Given the description of an element on the screen output the (x, y) to click on. 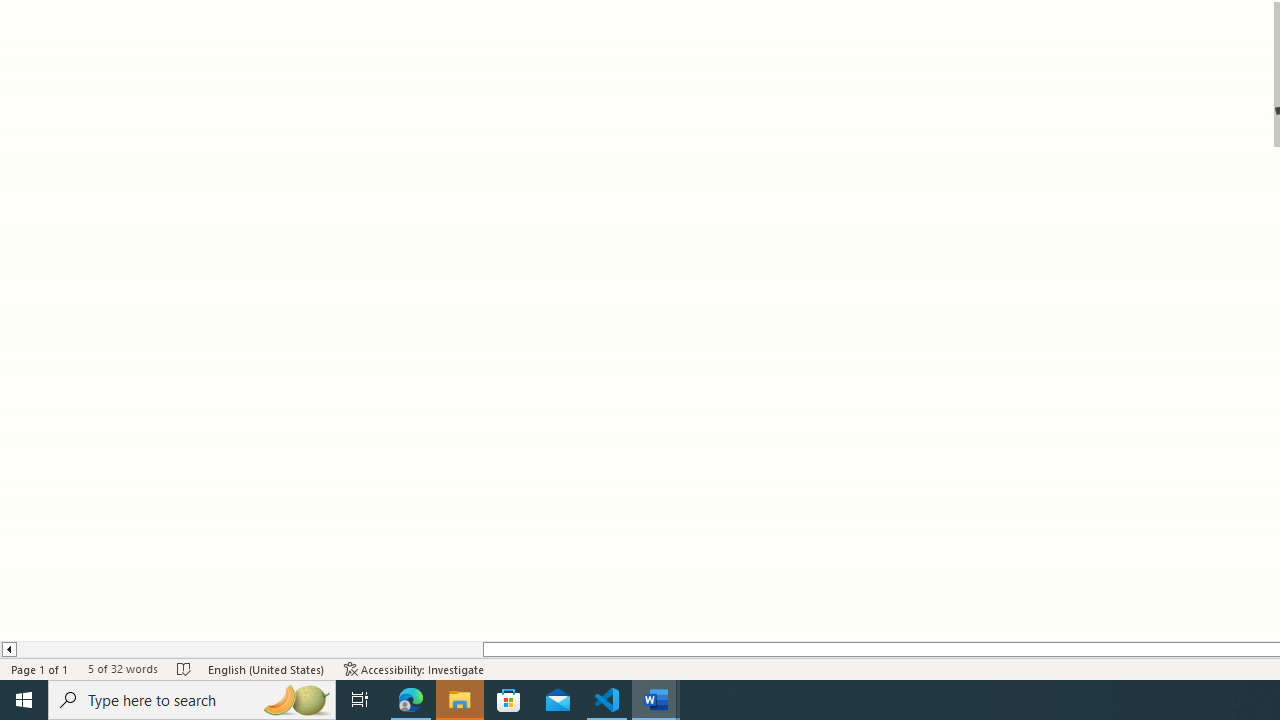
Spelling and Grammar Check No Errors (184, 668)
Accessibility Checker Accessibility: Investigate (413, 668)
Column left (8, 649)
Word Count 5 of 32 words (122, 668)
Page left (249, 649)
Language English (United States) (266, 668)
Page Number Page 1 of 1 (39, 668)
